Given the description of an element on the screen output the (x, y) to click on. 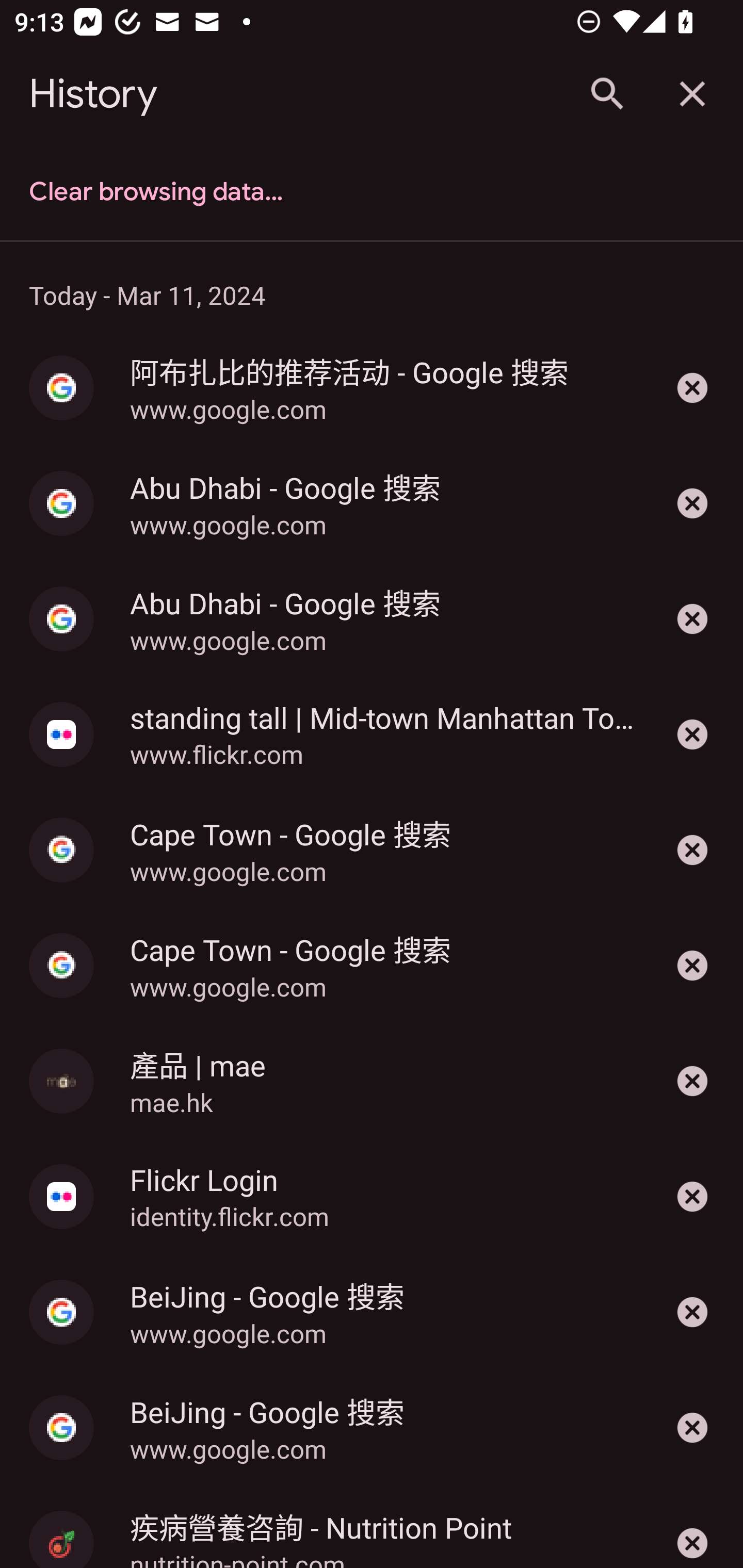
Search (605, 93)
Close (692, 93)
Clear browsing data… (371, 191)
阿布扎比的推荐活动 - Google 搜索 Remove (692, 387)
Abu Dhabi - Google 搜索 Remove (692, 503)
Abu Dhabi - Google 搜索 Remove (692, 619)
Cape Town - Google 搜索 Remove (692, 849)
Cape Town - Google 搜索 Remove (692, 965)
產品 | mae mae.hk 產品 | mae Remove (371, 1080)
產品 | mae Remove (692, 1080)
Flickr Login Remove (692, 1196)
BeiJing - Google 搜索 Remove (692, 1312)
BeiJing - Google 搜索 Remove (692, 1427)
疾病營養咨詢 - Nutrition Point Remove (692, 1526)
